Given the description of an element on the screen output the (x, y) to click on. 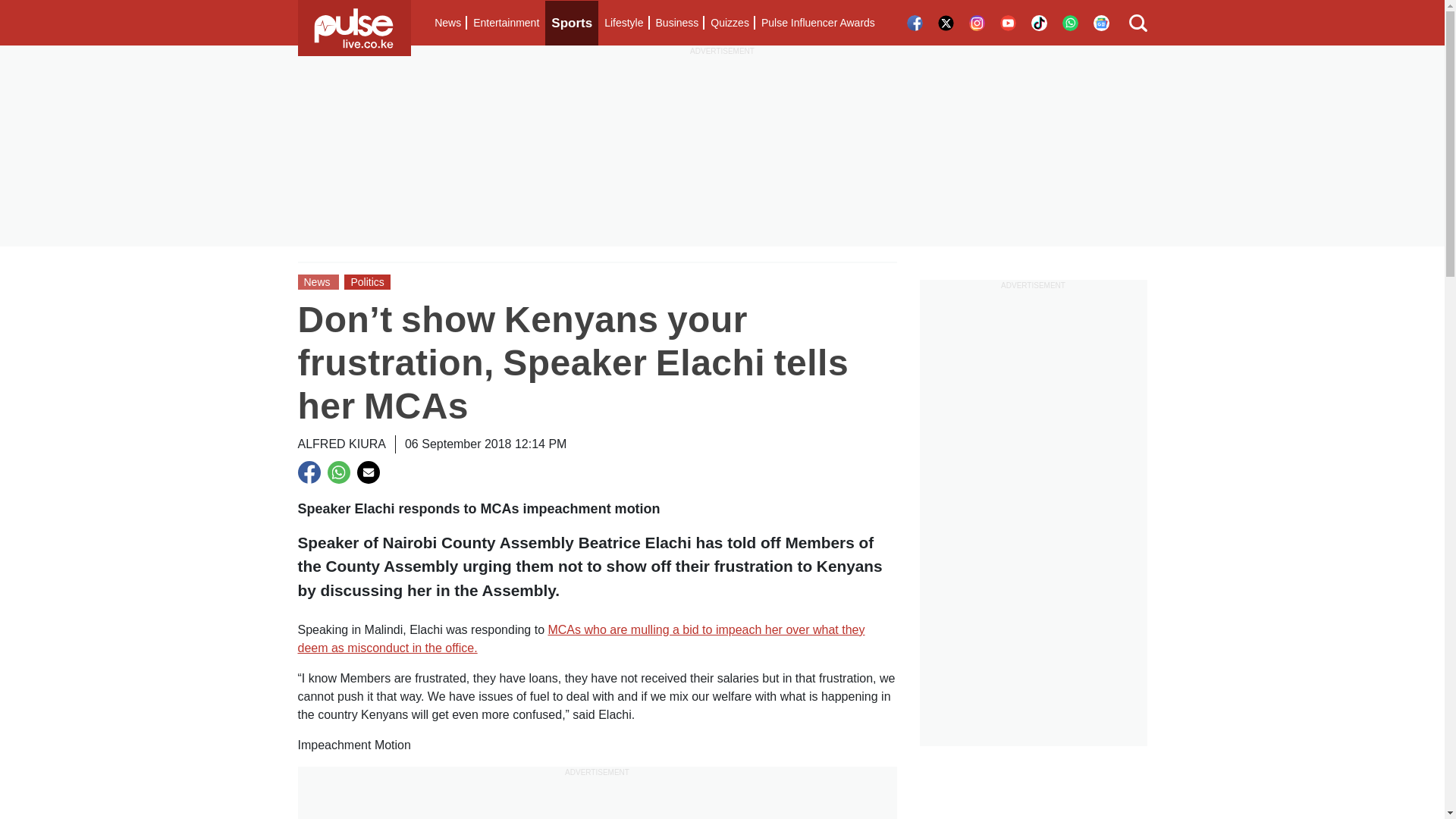
Quizzes (729, 22)
Pulse Influencer Awards (817, 22)
Lifestyle (623, 22)
Entertainment (505, 22)
Business (676, 22)
Sports (571, 22)
